Given the description of an element on the screen output the (x, y) to click on. 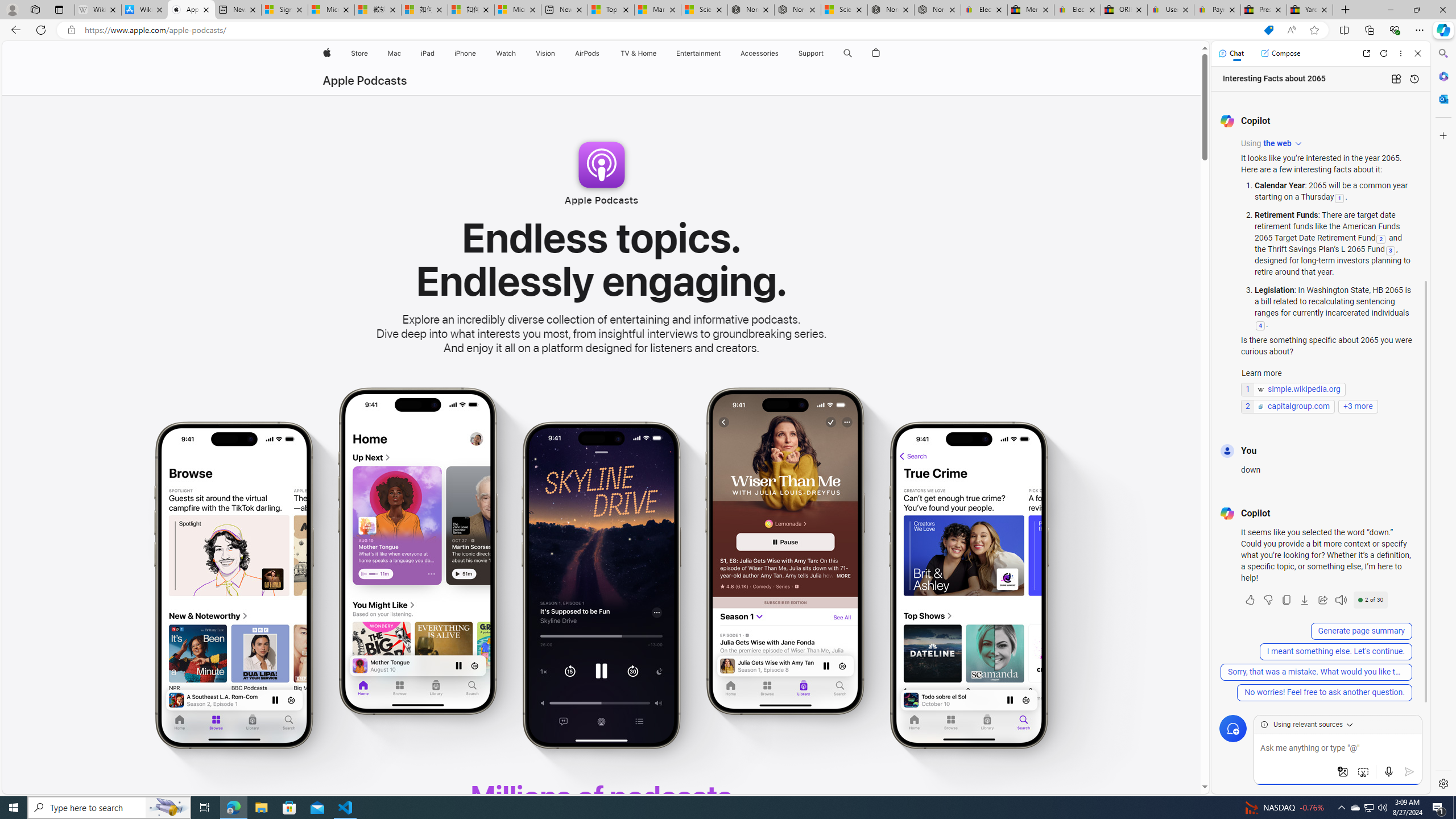
iPad (427, 53)
TV & Home (637, 53)
Vision (545, 53)
